Given the description of an element on the screen output the (x, y) to click on. 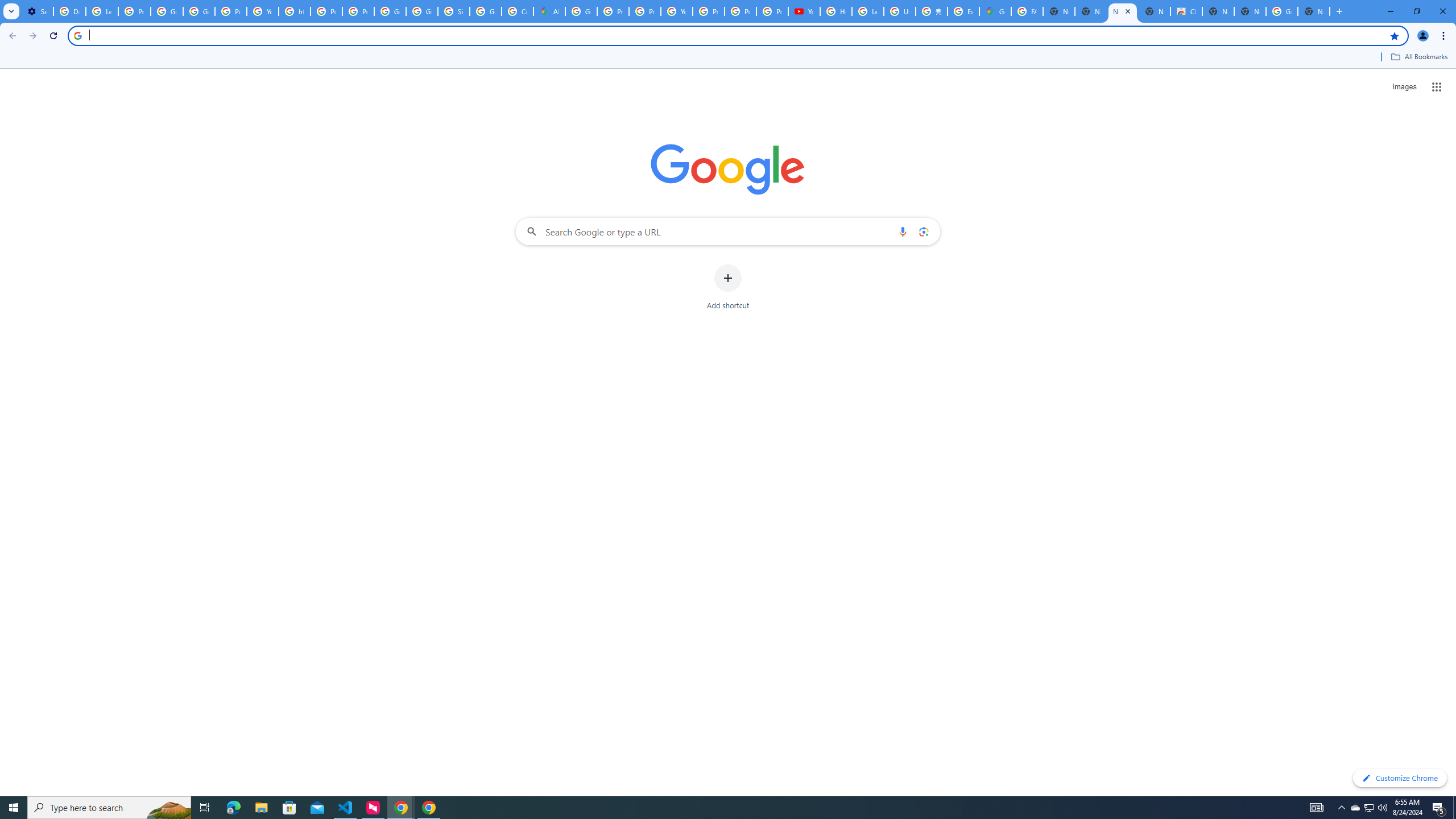
Privacy Checkup (740, 11)
Privacy Help Center - Policies Help (644, 11)
YouTube (262, 11)
New Tab (1249, 11)
Settings - On startup (37, 11)
Create your Google Account (517, 11)
